Given the description of an element on the screen output the (x, y) to click on. 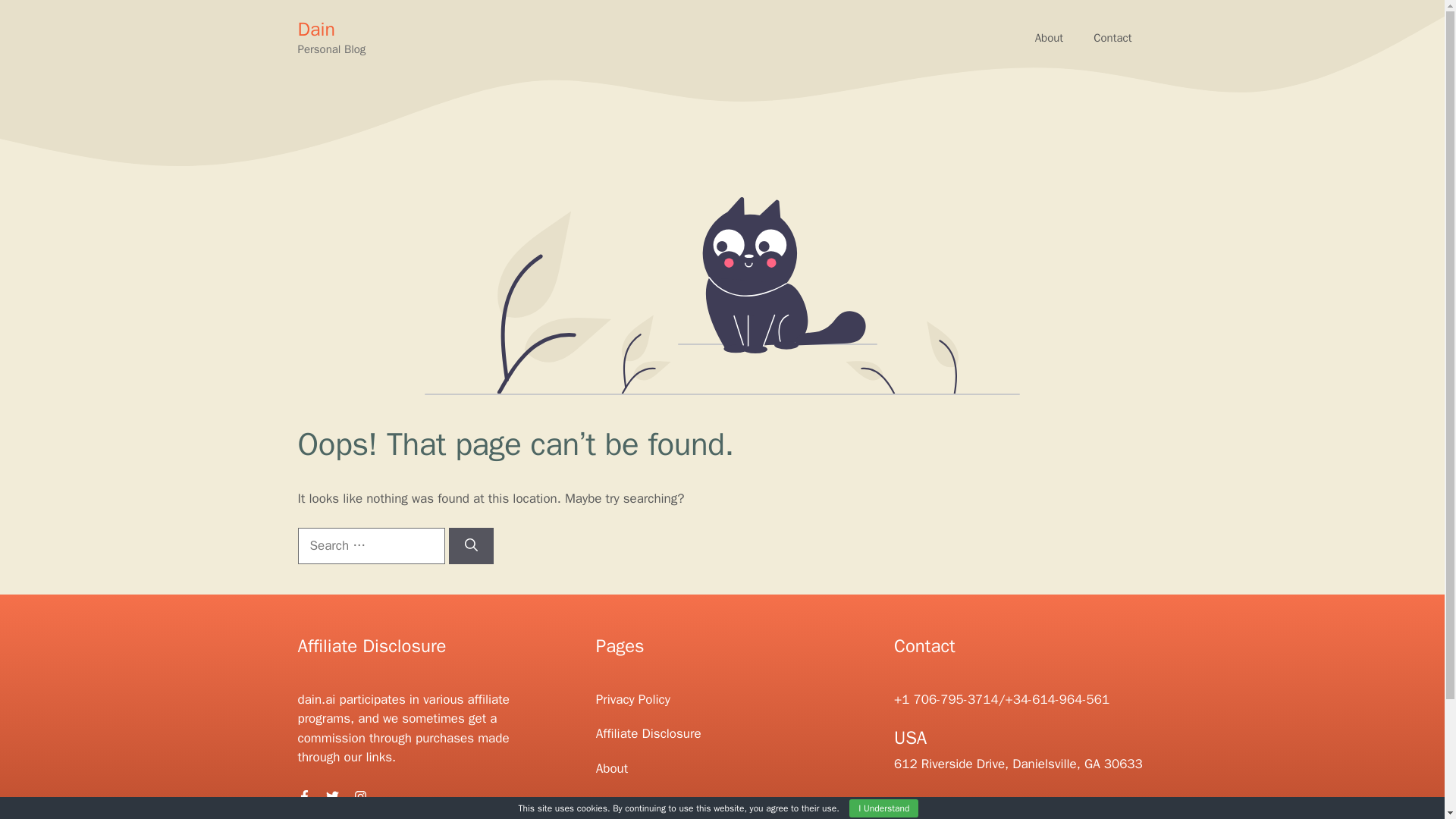
Privacy Policy (632, 699)
About (611, 768)
About (1049, 37)
Affiliate Disclosure (648, 733)
Contact (1112, 37)
Dain (315, 28)
Contact (617, 802)
Search for: (370, 545)
Contact (1112, 37)
About (1049, 37)
